Given the description of an element on the screen output the (x, y) to click on. 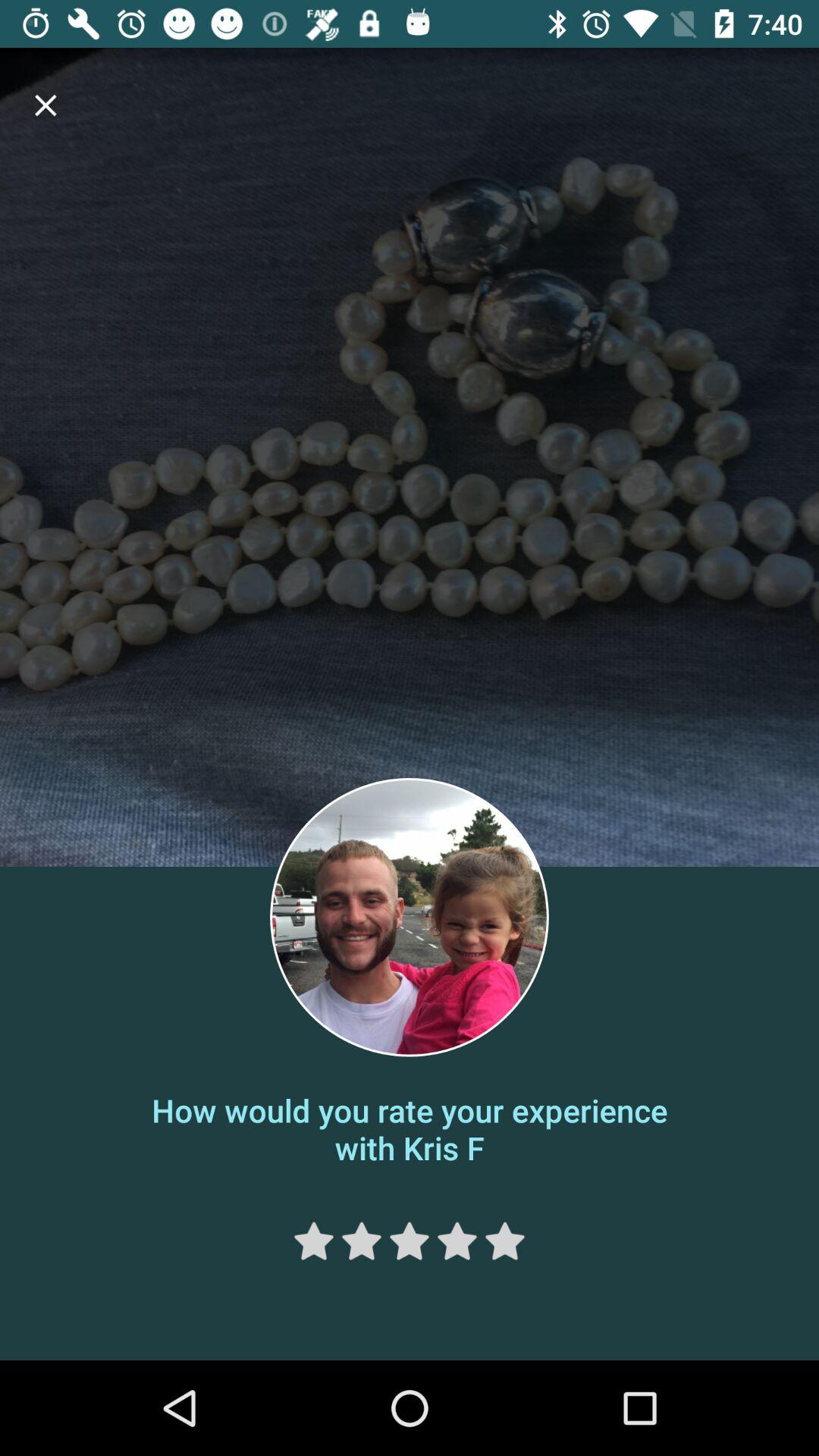
rate one star (313, 1240)
